Given the description of an element on the screen output the (x, y) to click on. 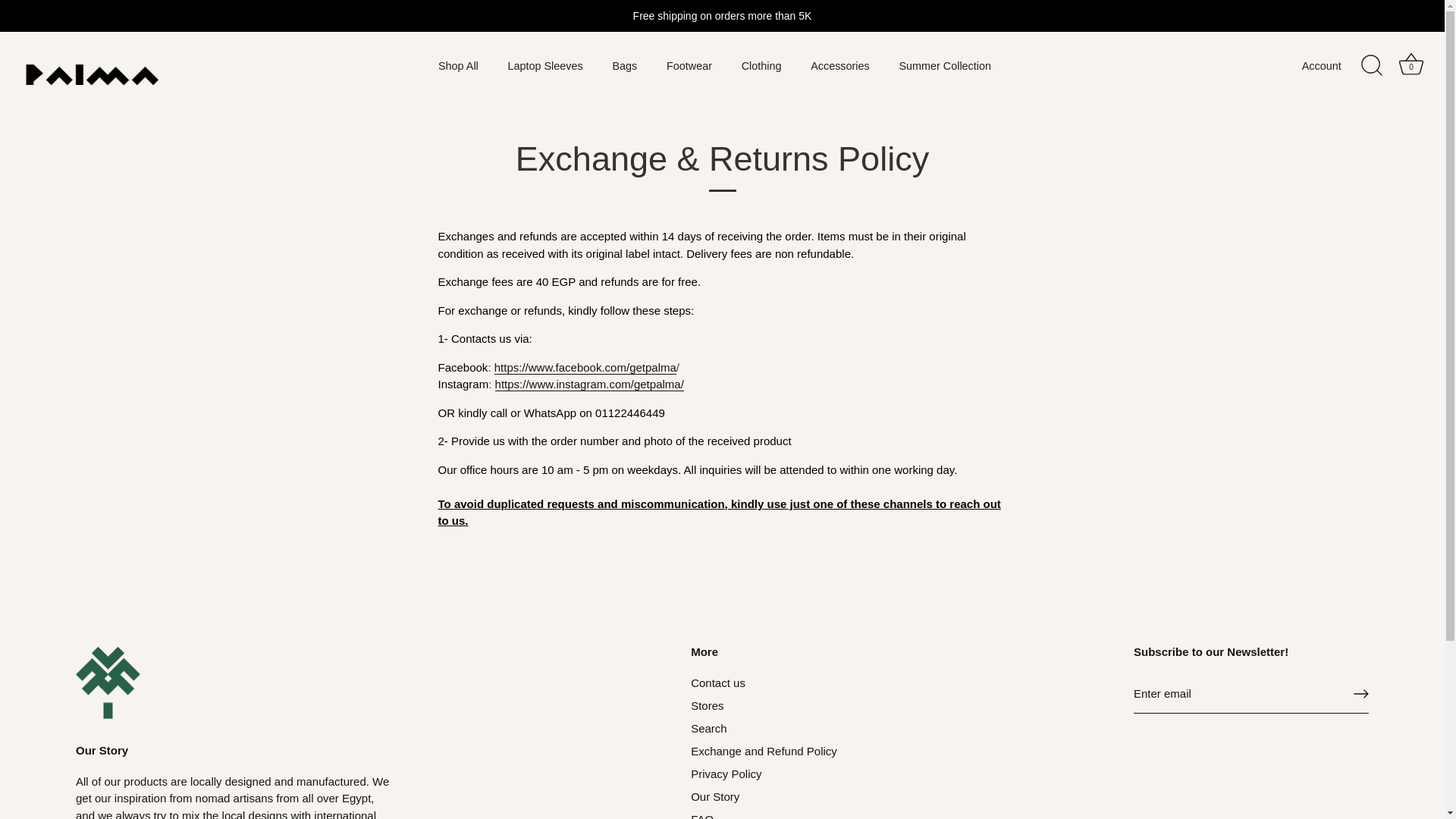
Basket (1410, 63)
Footwear (689, 66)
Shop All (458, 66)
Laptop Sleeves (545, 66)
Clothing (760, 66)
RIGHT ARROW LONG (1361, 693)
Bags (623, 66)
